Given the description of an element on the screen output the (x, y) to click on. 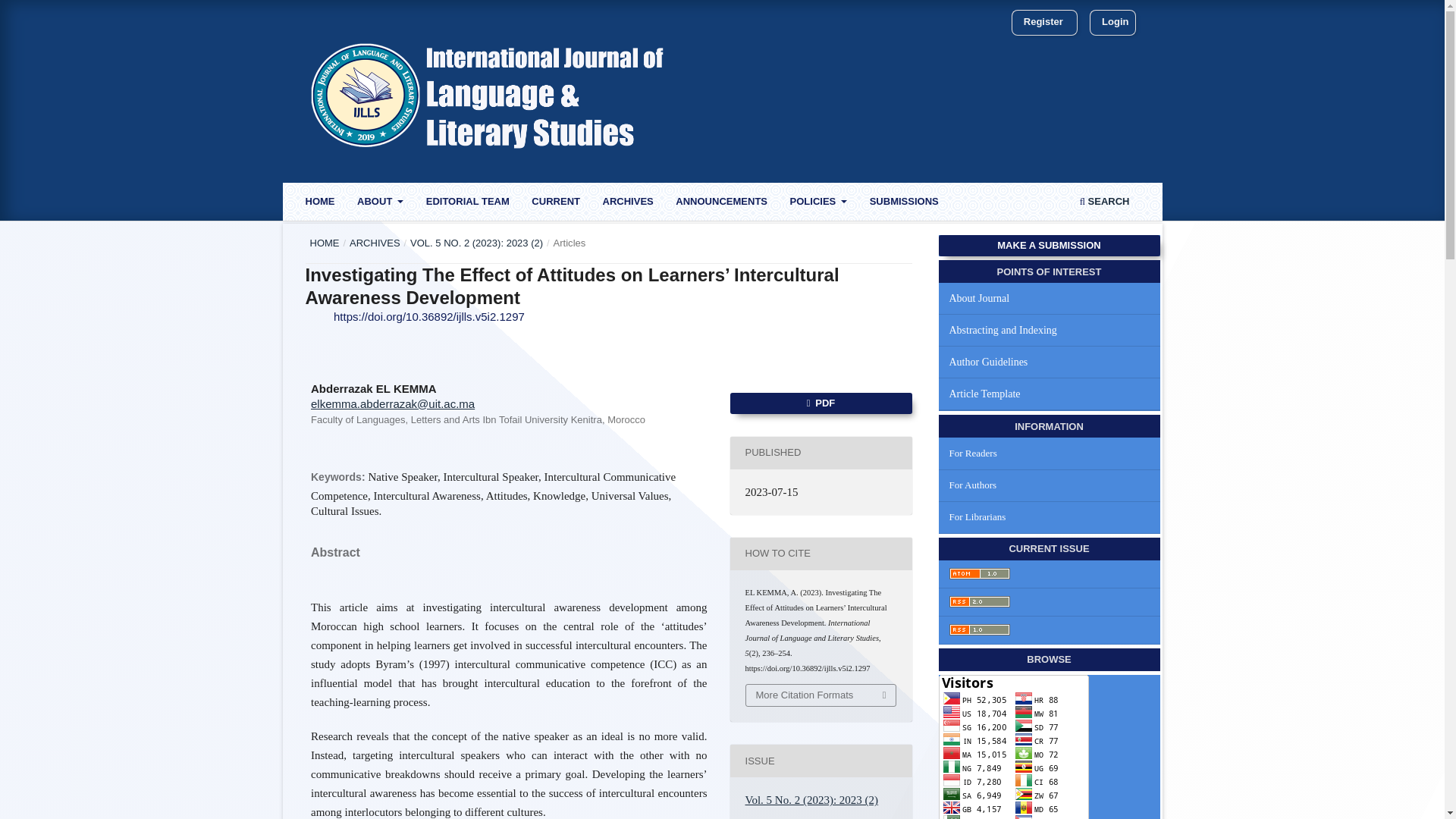
EDITORIAL TEAM (466, 203)
SEARCH (1104, 203)
ABOUT (380, 203)
PDF (820, 403)
Register (1043, 21)
Login (1114, 21)
More Citation Formats (820, 694)
POLICIES (817, 203)
HOME (323, 242)
ANNOUNCEMENTS (722, 203)
CURRENT (556, 203)
ARCHIVES (627, 203)
SUBMISSIONS (903, 203)
HOME (319, 203)
ARCHIVES (374, 242)
